Given the description of an element on the screen output the (x, y) to click on. 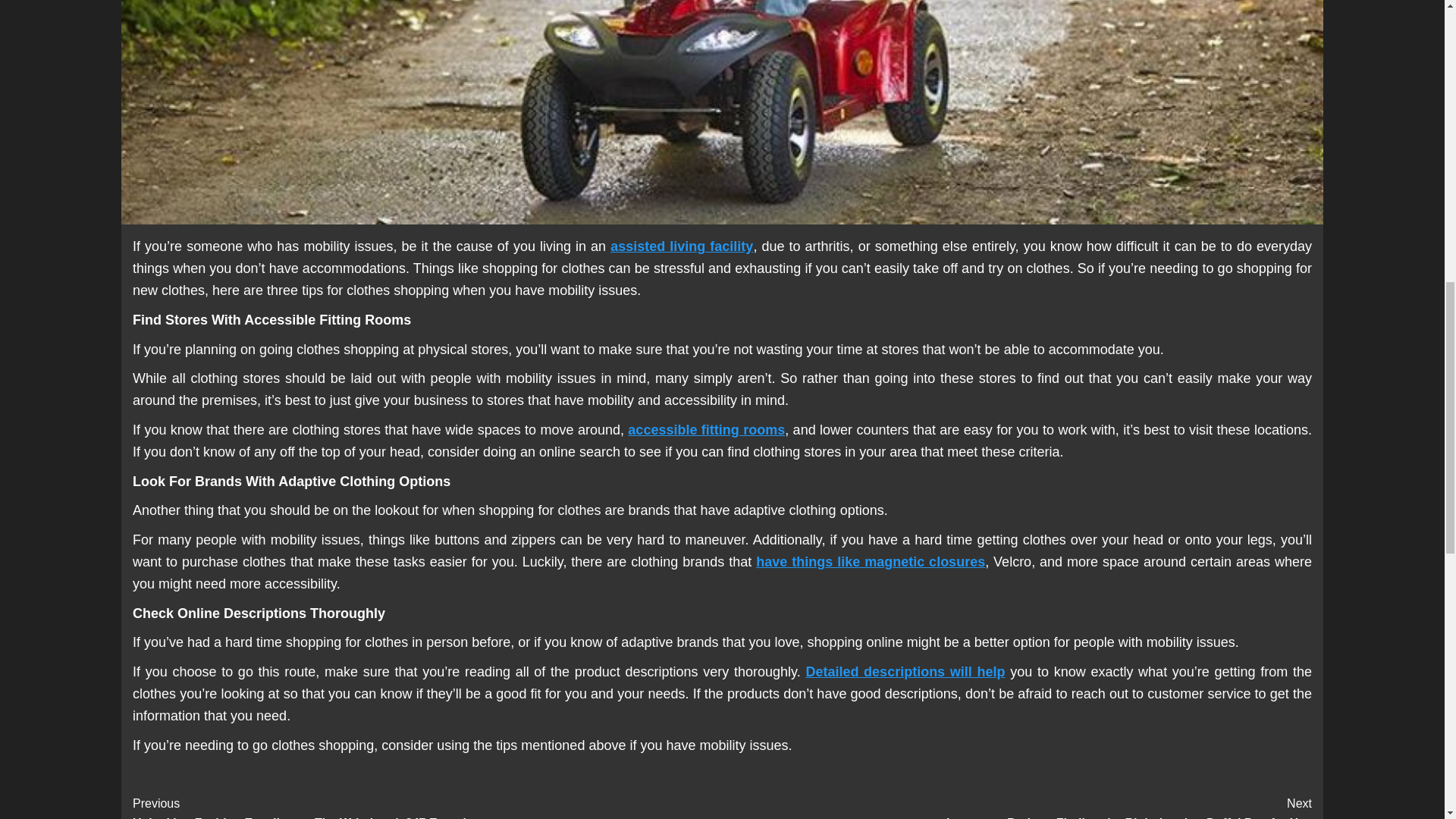
Detailed descriptions will help (904, 671)
accessible fitting rooms (705, 429)
have things like magnetic closures (870, 561)
assisted living facility (681, 246)
